Given the description of an element on the screen output the (x, y) to click on. 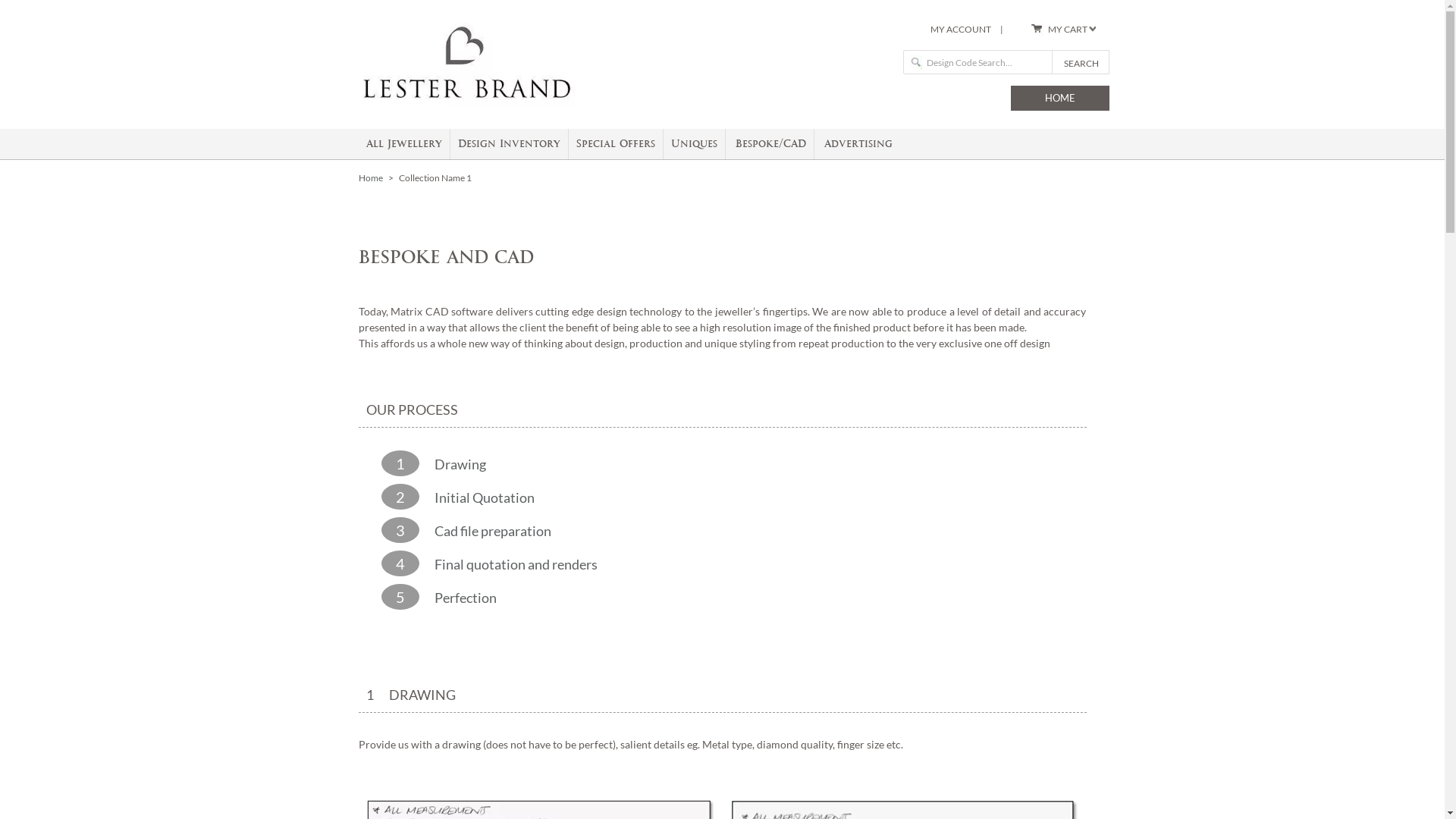
Drawing Element type: text (451, 463)
Design Inventory Element type: text (508, 143)
Perfection Element type: text (456, 596)
MY CART Element type: text (1066, 30)
MY ACCOUNT | Element type: text (966, 30)
HOME Element type: text (1059, 97)
Bespoke/CAD Element type: text (770, 143)
Special Offers Element type: text (615, 143)
Advertising Element type: text (857, 143)
Cad file preparation Element type: text (484, 529)
SEARCH Element type: text (1079, 62)
All Jewellery Element type: text (402, 143)
Home Element type: text (369, 178)
Uniques Element type: text (693, 143)
Initial Quotation Element type: text (475, 496)
Final quotation and renders Element type: text (507, 563)
